Given the description of an element on the screen output the (x, y) to click on. 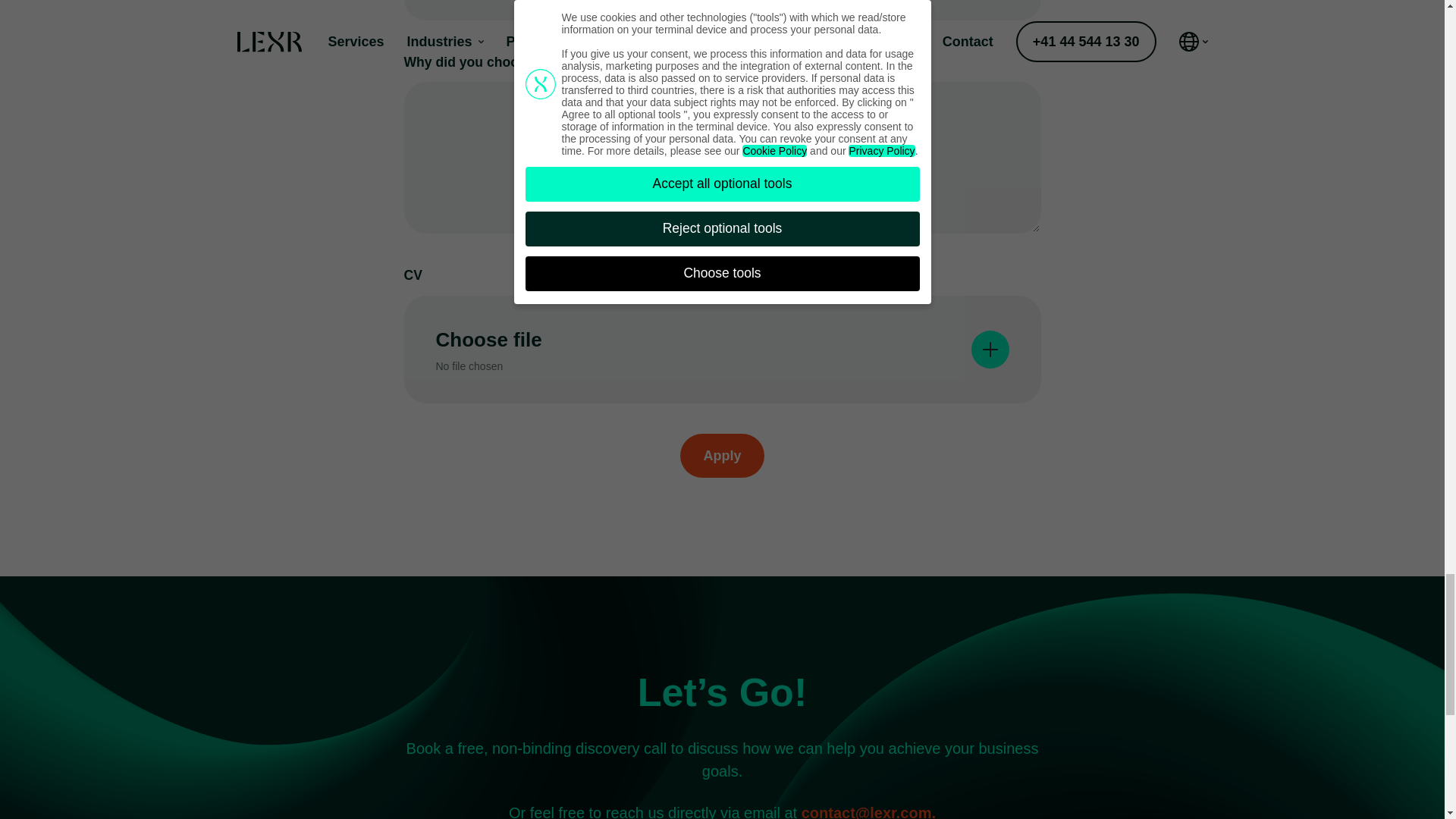
Apply (720, 455)
